Given the description of an element on the screen output the (x, y) to click on. 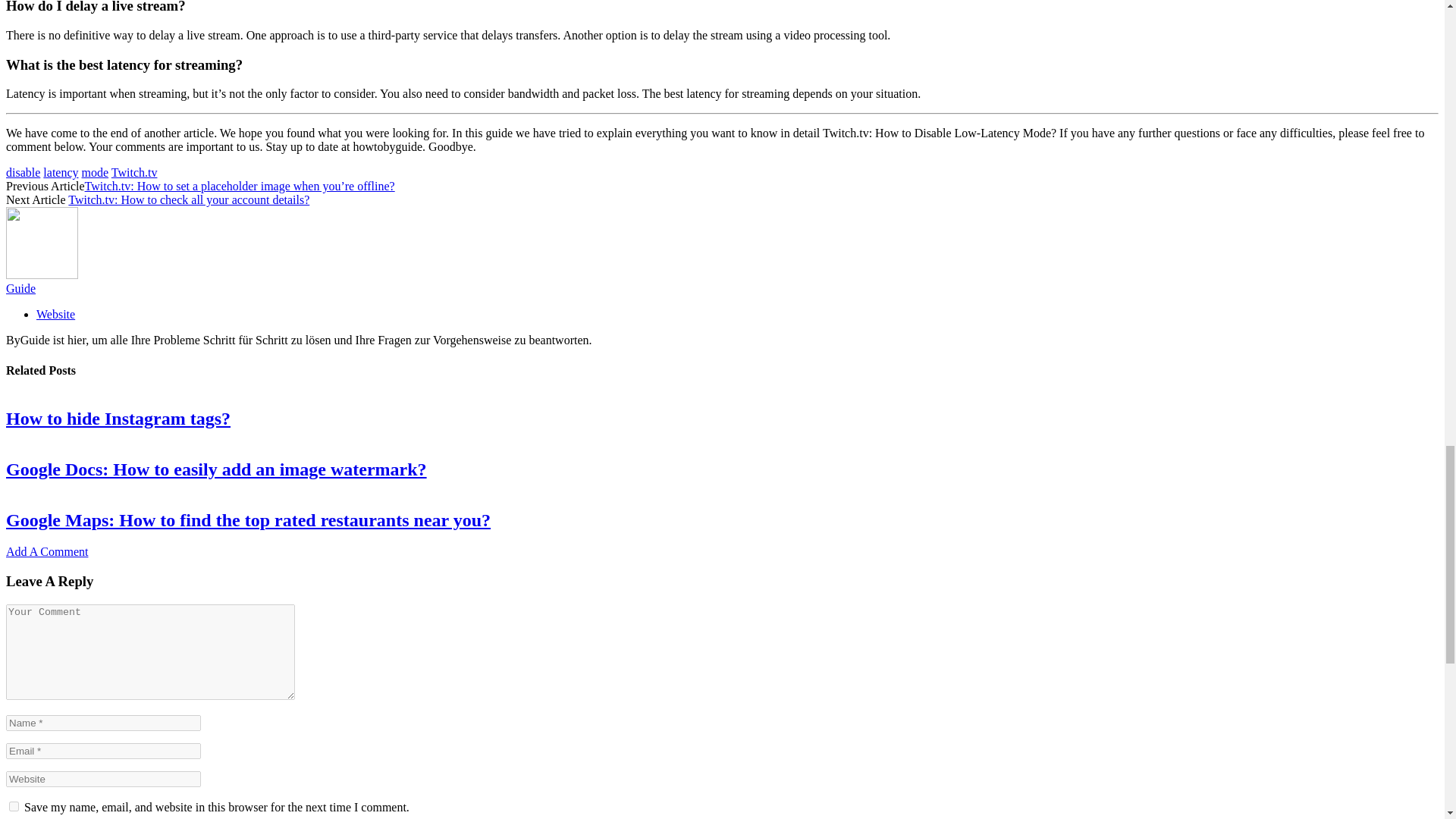
latency (60, 172)
Website (55, 314)
mode (95, 172)
disable (22, 172)
Twitch.tv (134, 172)
yes (13, 806)
Posts by Guide (19, 287)
